Given the description of an element on the screen output the (x, y) to click on. 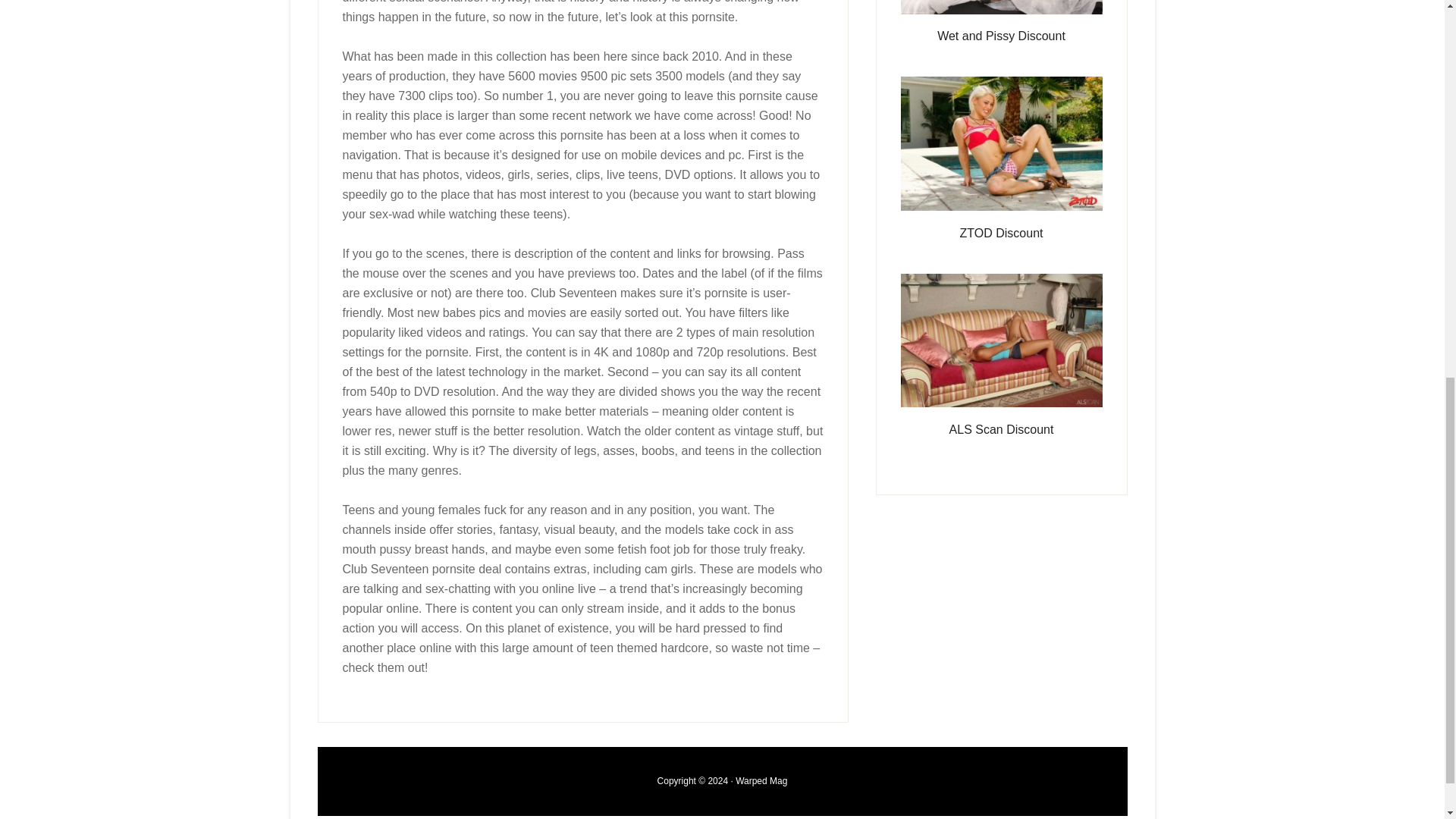
ALS Scan Discount (1001, 429)
Wet and Pissy Discount (1001, 35)
ZTOD Discount (1001, 232)
